Given the description of an element on the screen output the (x, y) to click on. 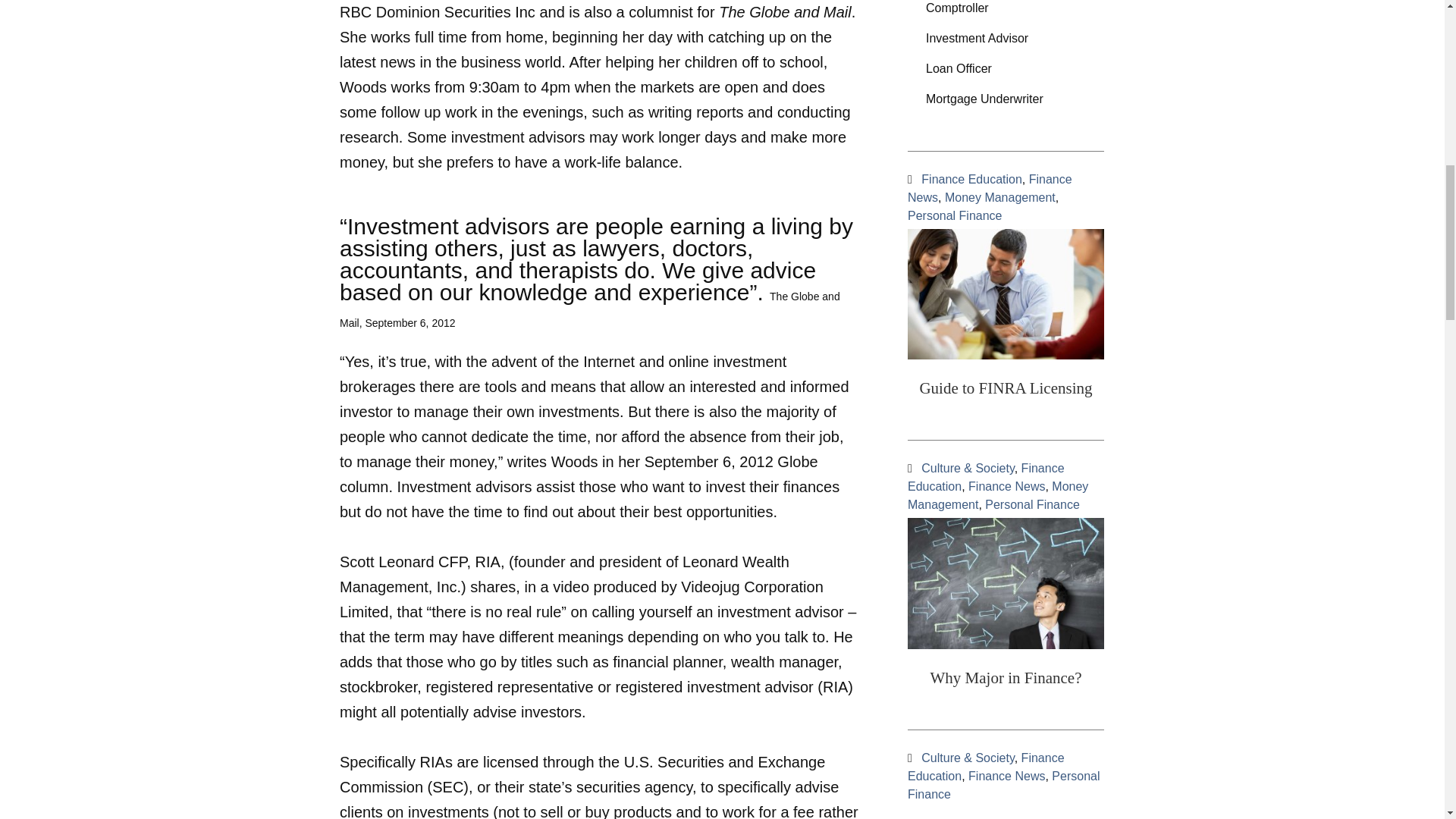
Finance Education (985, 477)
Personal Finance (1032, 504)
Investment Advisor (1005, 38)
Finance Education (971, 178)
Money Management (997, 495)
Money Management (999, 196)
Guide to FINRA Licensing (1005, 388)
Loan Officer (1005, 69)
Finance News (989, 187)
Finance News (1006, 486)
Comptroller (1005, 11)
Mortgage Underwriter (1005, 99)
Personal Finance (955, 215)
